Given the description of an element on the screen output the (x, y) to click on. 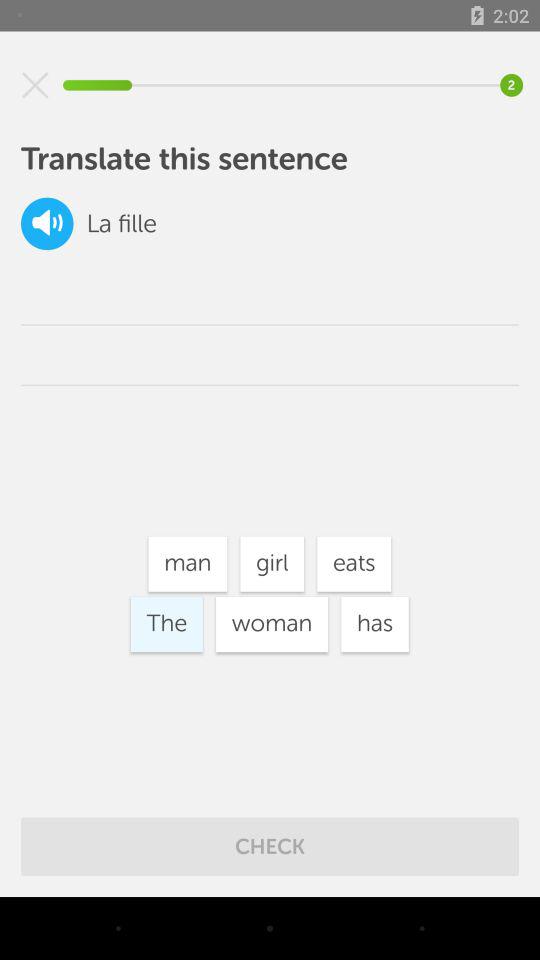
turn on icon below man icon (272, 624)
